Given the description of an element on the screen output the (x, y) to click on. 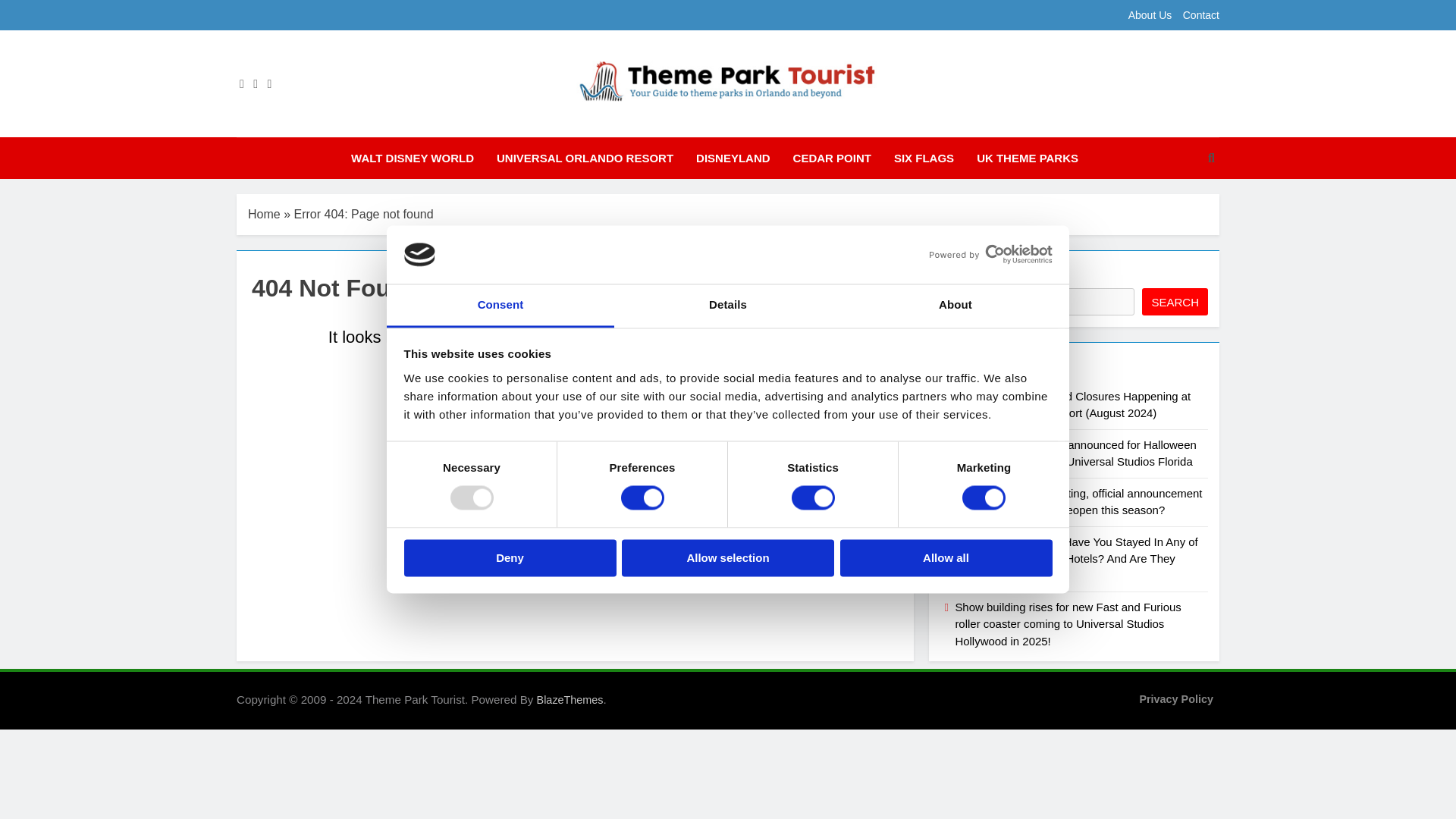
Details (727, 305)
About (954, 305)
Consent (500, 305)
